Given the description of an element on the screen output the (x, y) to click on. 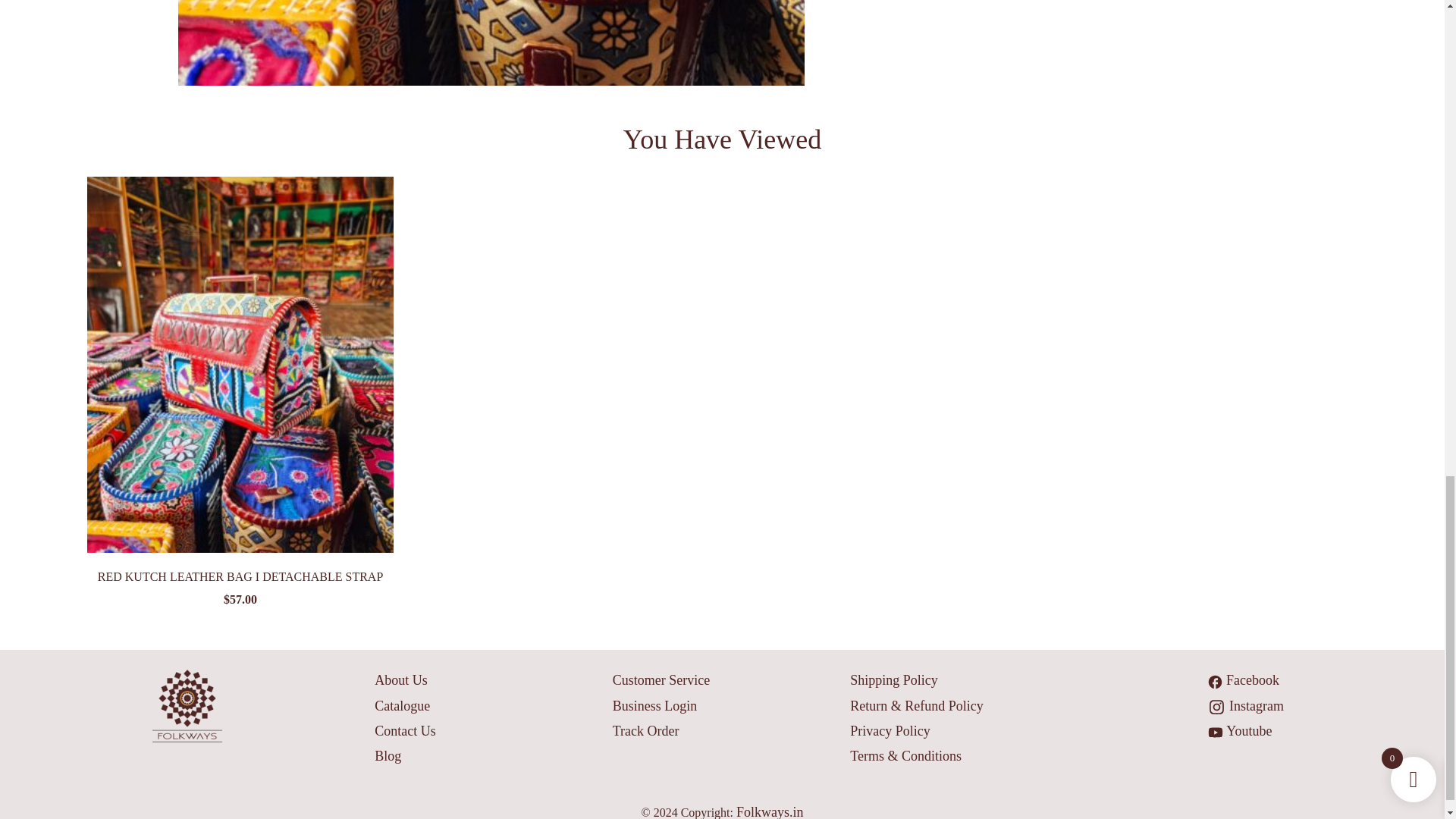
About Us (401, 679)
RED KUTCH LEATHER BAG I DETACHABLE STRAP (240, 576)
